Given the description of an element on the screen output the (x, y) to click on. 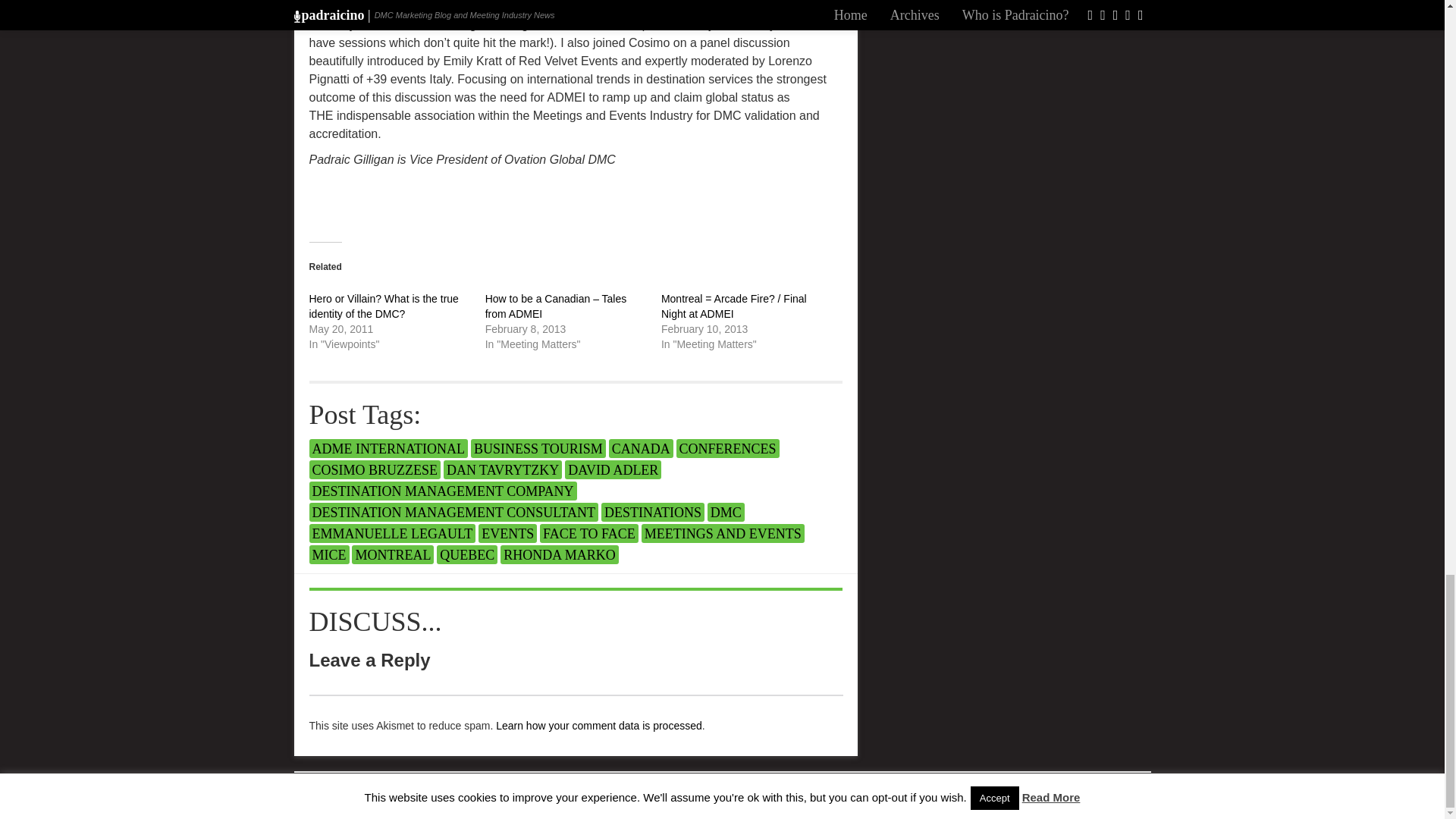
DESTINATION MANAGEMENT COMPANY (442, 490)
QUEBEC (466, 554)
EVENTS (508, 533)
EMMANUELLE LEGAULT (392, 533)
DESTINATION MANAGEMENT CONSULTANT (453, 511)
FACE TO FACE (589, 533)
RHONDA MARKO (559, 554)
DESTINATIONS (652, 511)
Learn how your comment data is processed (598, 725)
DAVID ADLER (612, 469)
DAN TAVRYTZKY (503, 469)
DMC (725, 511)
MICE (328, 554)
Hero or Villain? What is the true identity of the DMC? (383, 306)
BUSINESS TOURISM (537, 447)
